Given the description of an element on the screen output the (x, y) to click on. 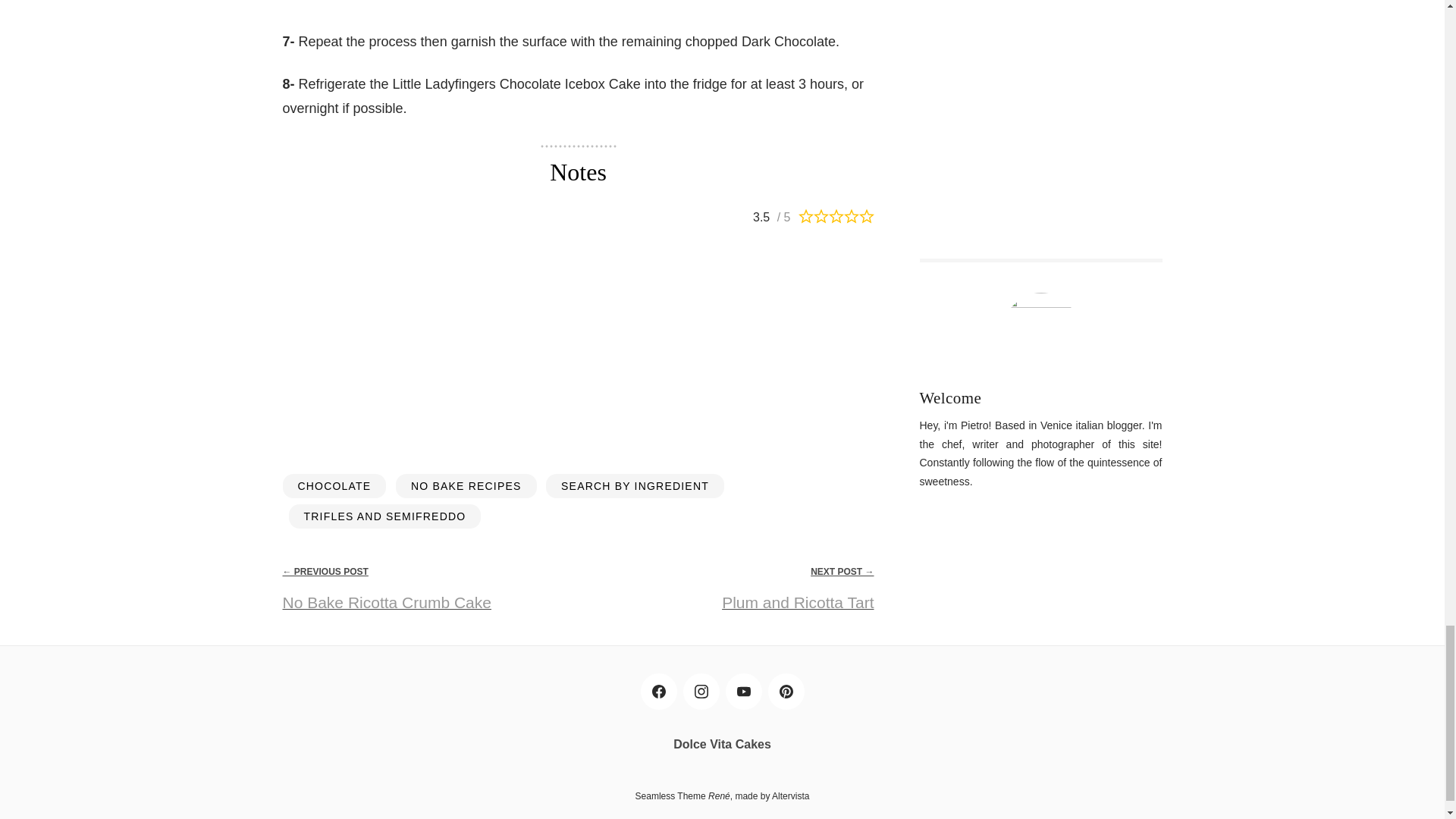
2 votes (773, 217)
Facebook (658, 691)
Youtube (743, 691)
Instagram (700, 691)
Pinterest (785, 691)
